Given the description of an element on the screen output the (x, y) to click on. 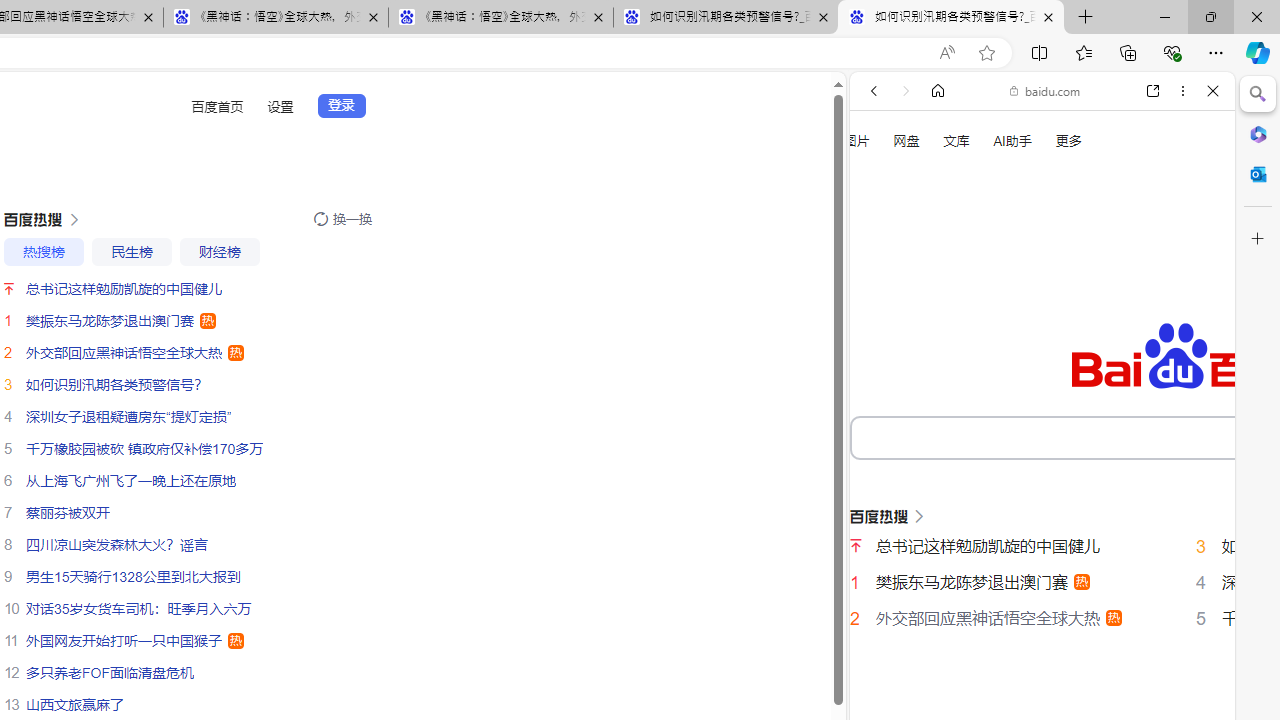
Preferences (1189, 337)
Search Filter, Search Tools (1093, 339)
Global web icon (888, 698)
